Given the description of an element on the screen output the (x, y) to click on. 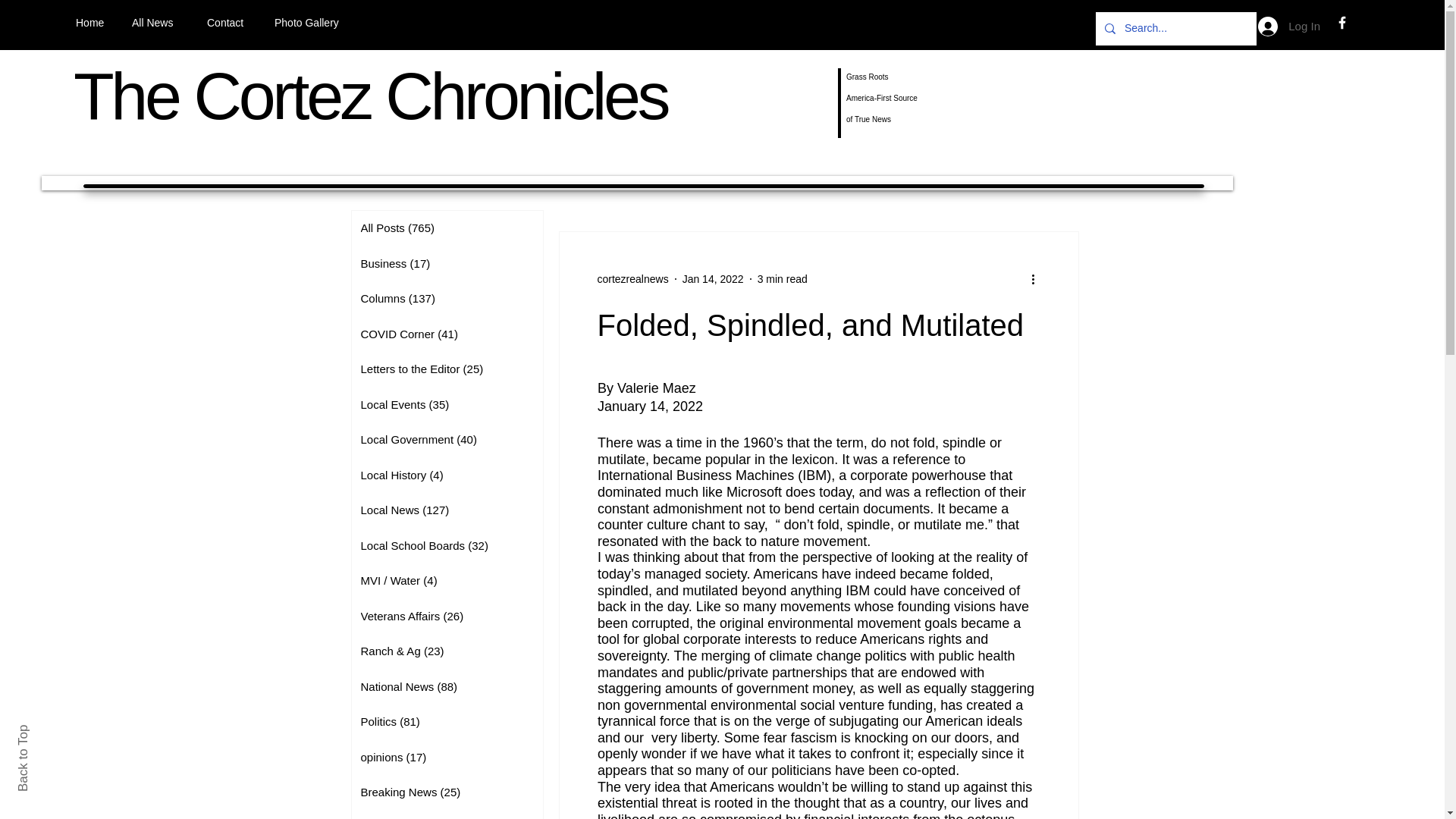
cortezrealnews (632, 279)
Contact (229, 22)
Jan 14, 2022 (713, 278)
The Cortez Chronicles (370, 95)
3 min read (782, 278)
All News (157, 22)
Photo Gallery (313, 22)
Log In (1288, 26)
Home (92, 22)
